Given the description of an element on the screen output the (x, y) to click on. 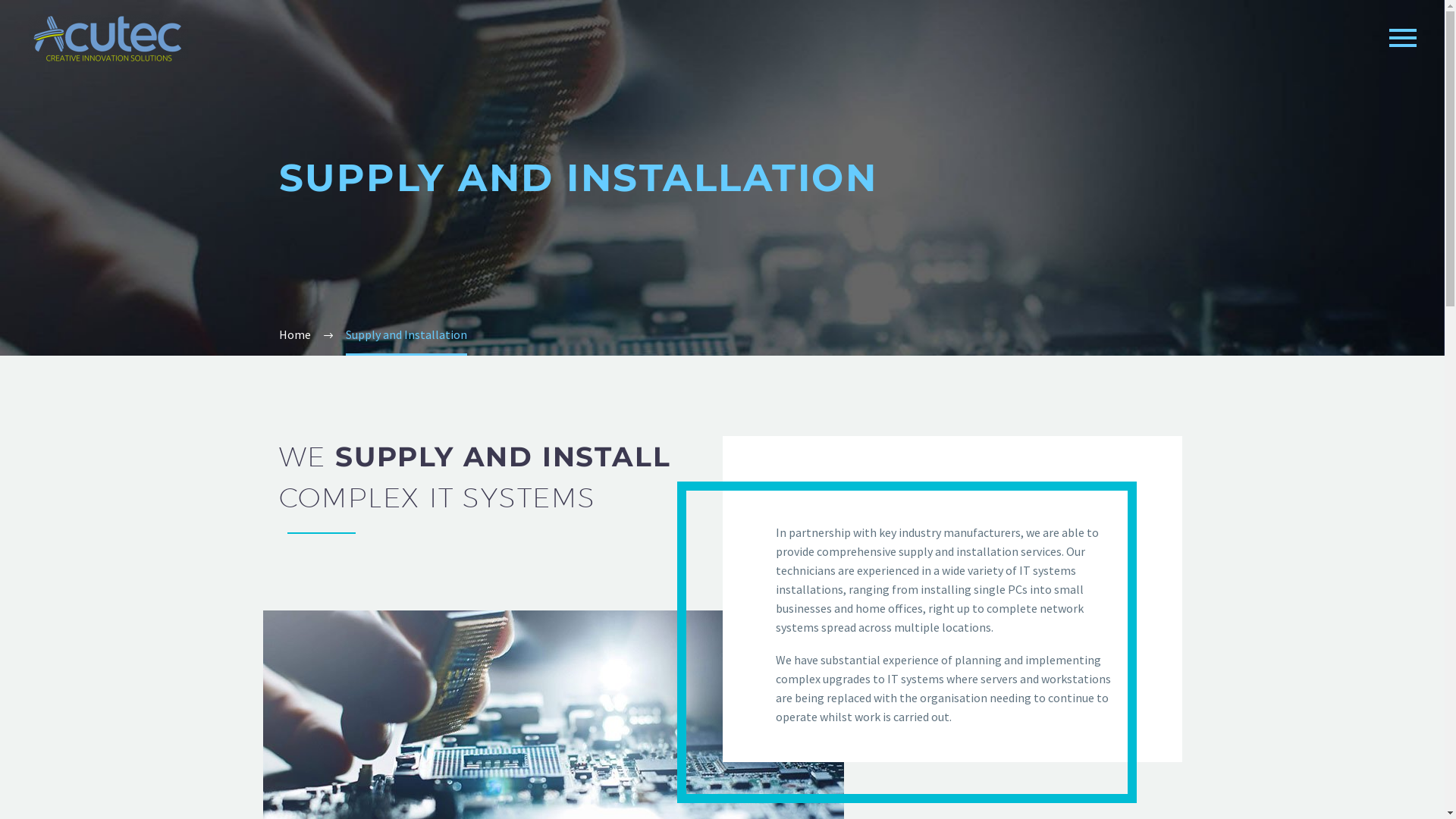
Home Element type: text (294, 334)
Primary Menu Element type: text (1402, 37)
